Given the description of an element on the screen output the (x, y) to click on. 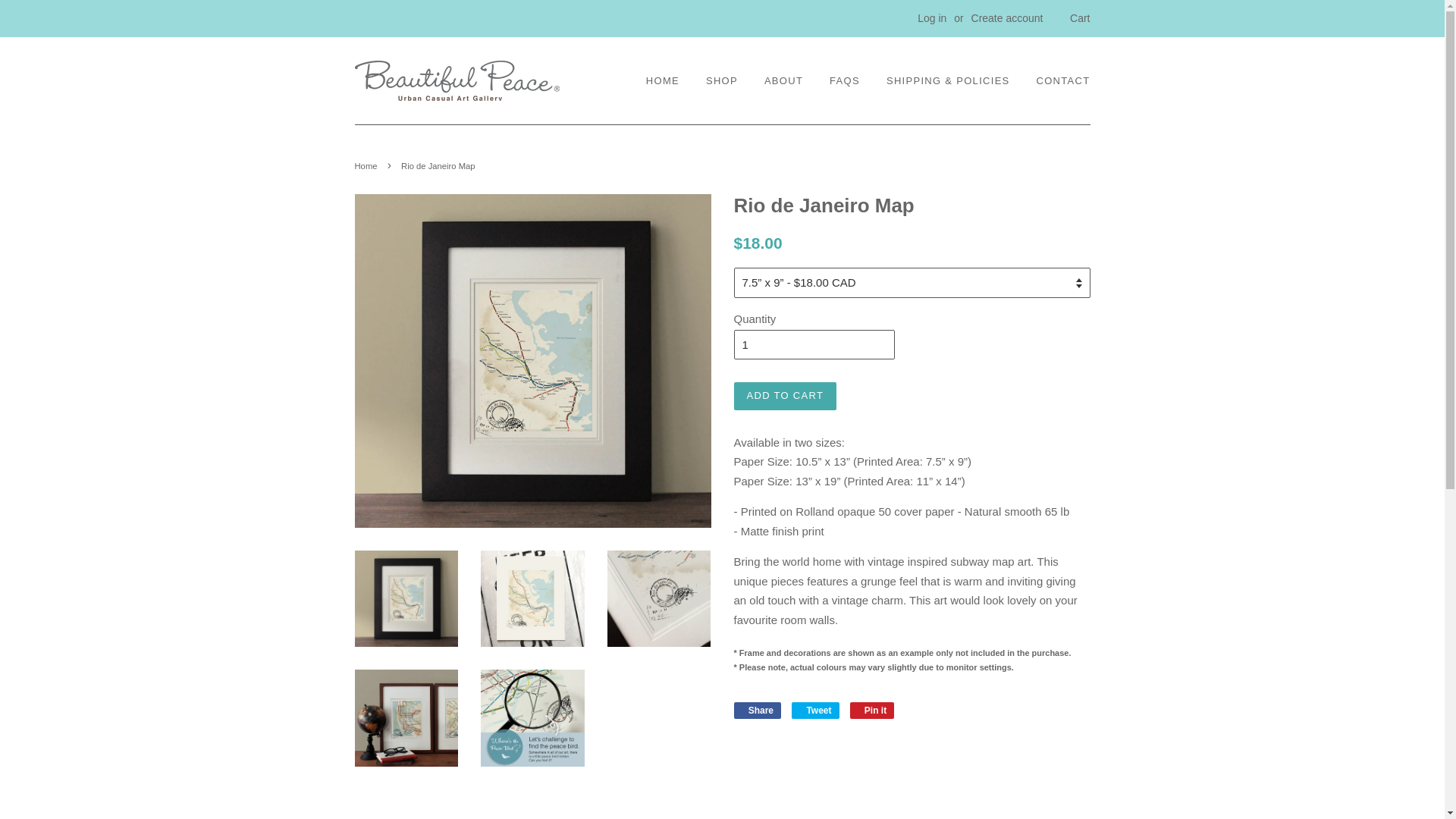
Create account Element type: text (1007, 18)
HOME Element type: text (668, 80)
SHIPPING & POLICIES Element type: text (948, 80)
Cart Element type: text (1079, 18)
Tweet
Tweet on Twitter Element type: text (814, 710)
Share
Share on Facebook Element type: text (757, 710)
ABOUT Element type: text (783, 80)
Pin it
Pin on Pinterest Element type: text (872, 710)
FAQS Element type: text (844, 80)
ADD TO CART Element type: text (785, 395)
SHOP Element type: text (721, 80)
Home Element type: text (367, 165)
CONTACT Element type: text (1057, 80)
Log in Element type: text (931, 18)
